Given the description of an element on the screen output the (x, y) to click on. 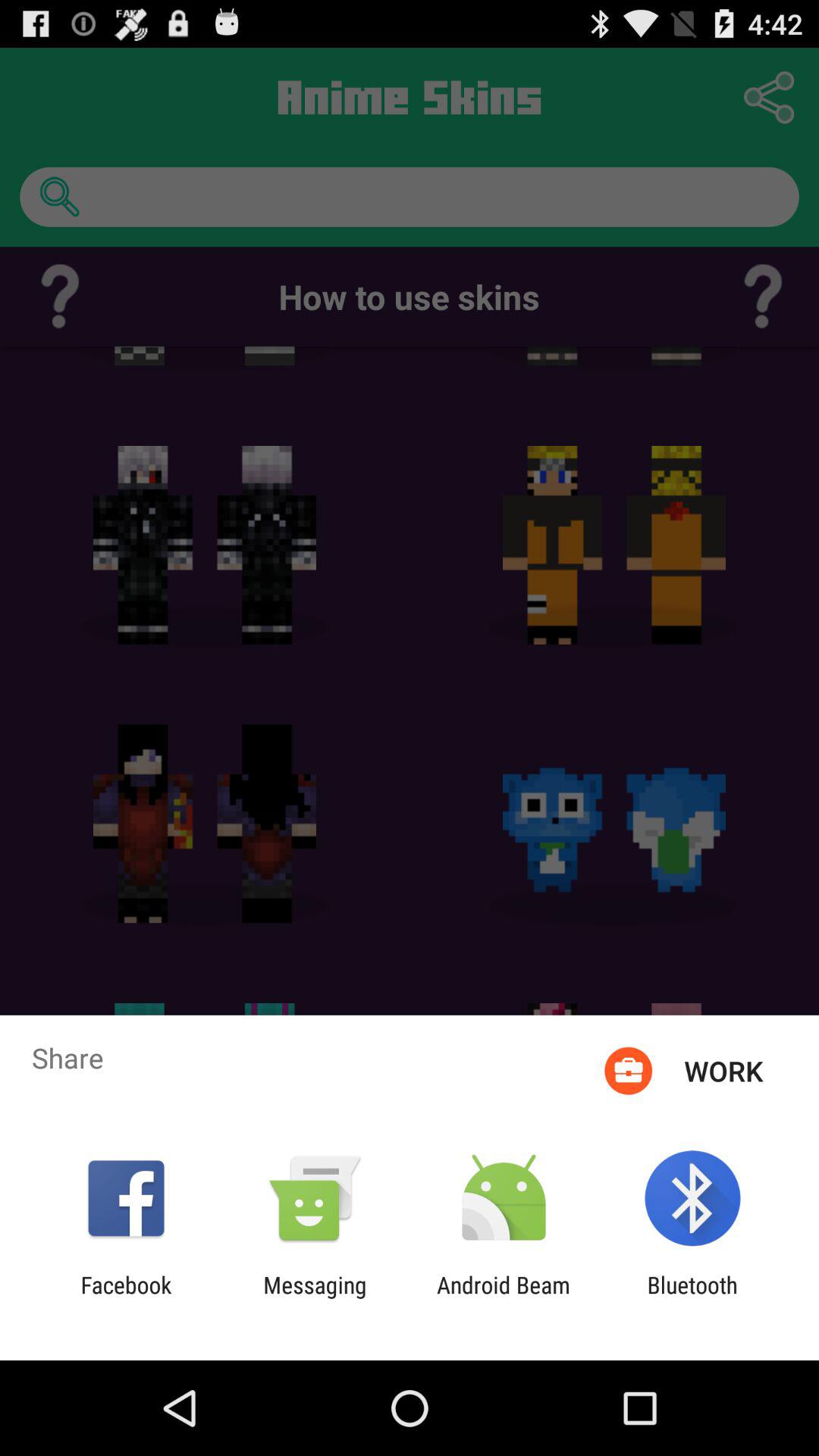
choose icon to the left of bluetooth icon (503, 1298)
